Given the description of an element on the screen output the (x, y) to click on. 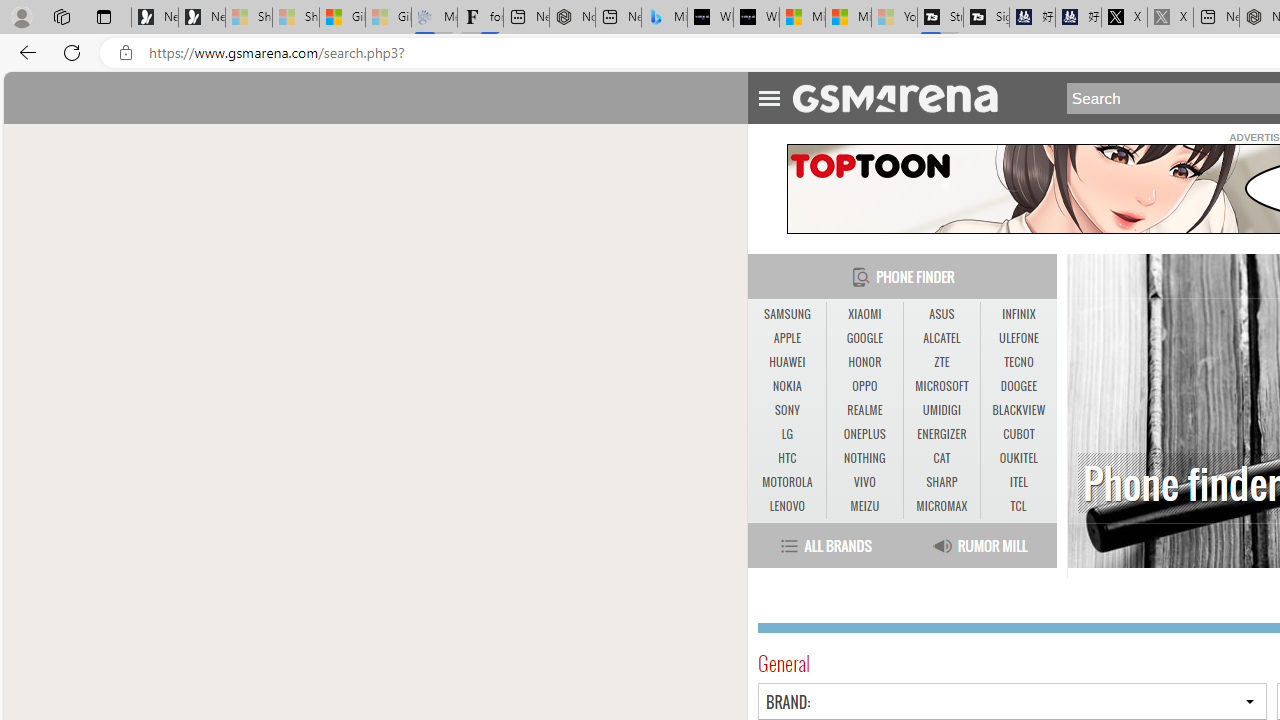
HONOR (863, 362)
MICROSOFT (941, 386)
CUBOT (1018, 434)
BLACKVIEW (1018, 411)
ULEFONE (1018, 338)
REALME (863, 410)
GOOGLE (864, 339)
INFINIX (1018, 314)
XIAOMI (863, 313)
LG (786, 434)
ASUS (941, 314)
TCL (1018, 506)
NOTHING (863, 457)
BLACKVIEW (1018, 410)
